Given the description of an element on the screen output the (x, y) to click on. 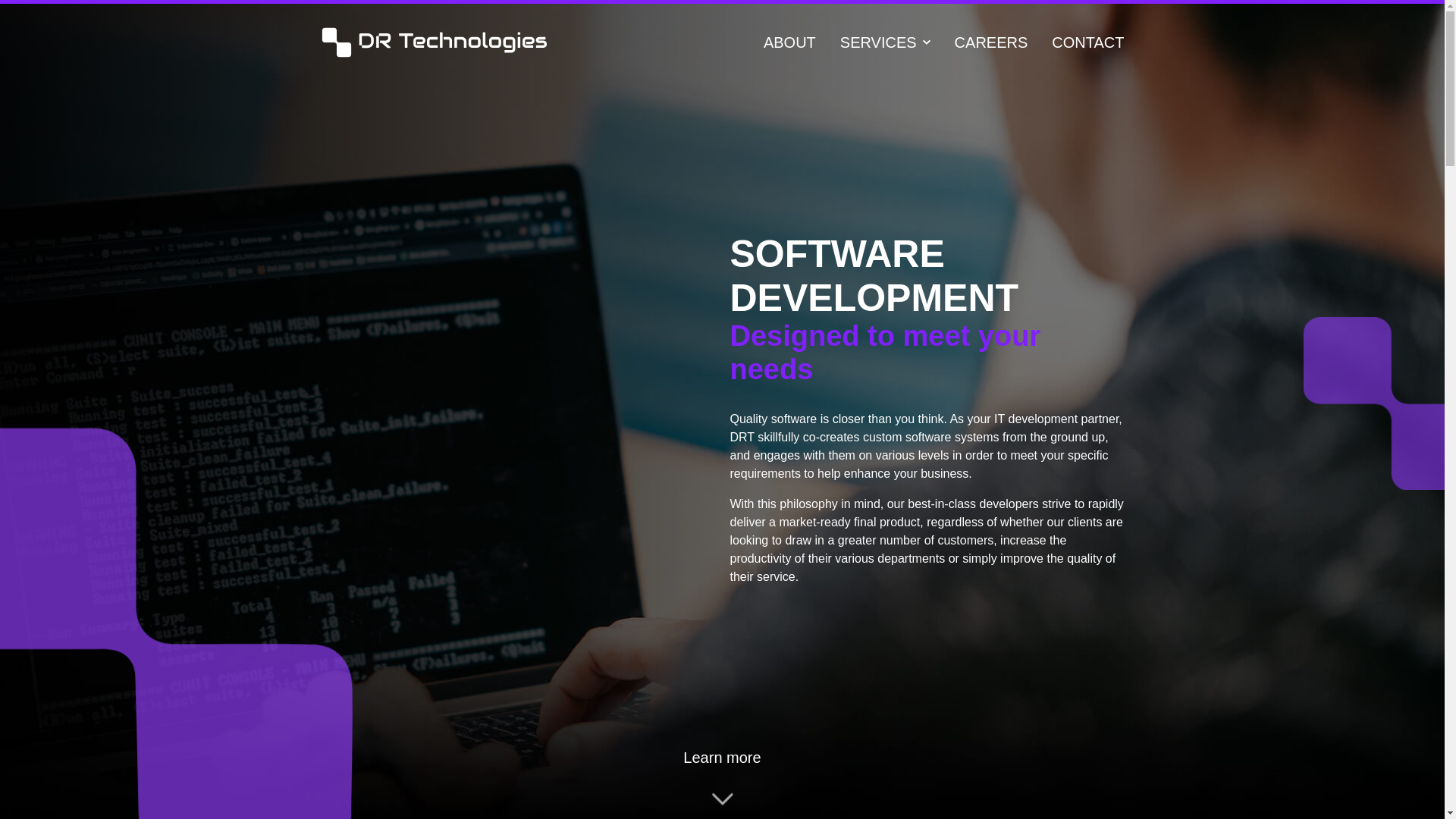
Learn more (721, 776)
ABOUT (788, 42)
CONTACT (1087, 42)
SERVICES (885, 42)
CAREERS (991, 42)
Use this form (764, 684)
